Given the description of an element on the screen output the (x, y) to click on. 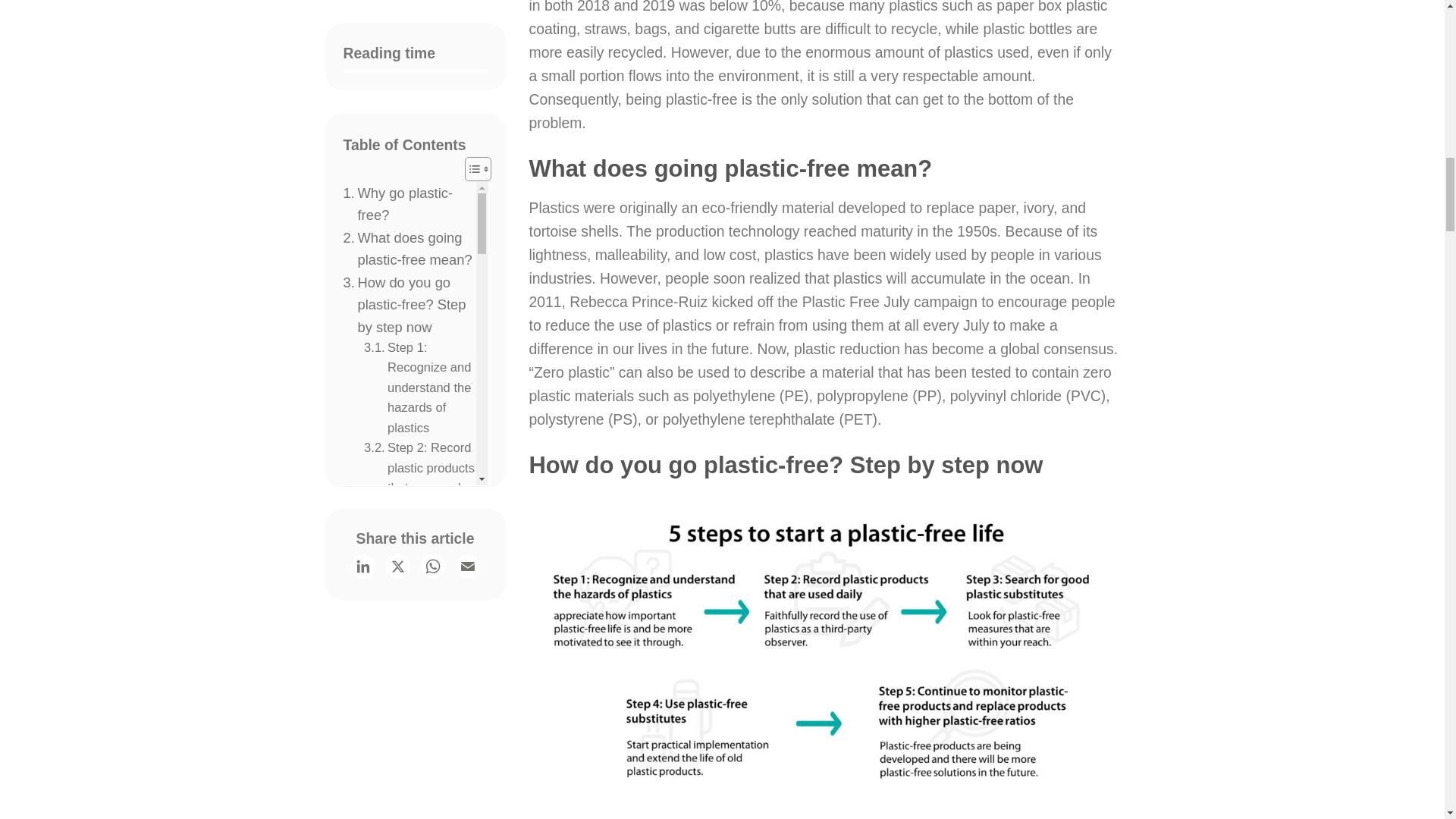
Tip 3: Extend the lifespan of disposable products (420, 80)
Tip 4: Join plastic-free discussion groups (420, 160)
